Given the description of an element on the screen output the (x, y) to click on. 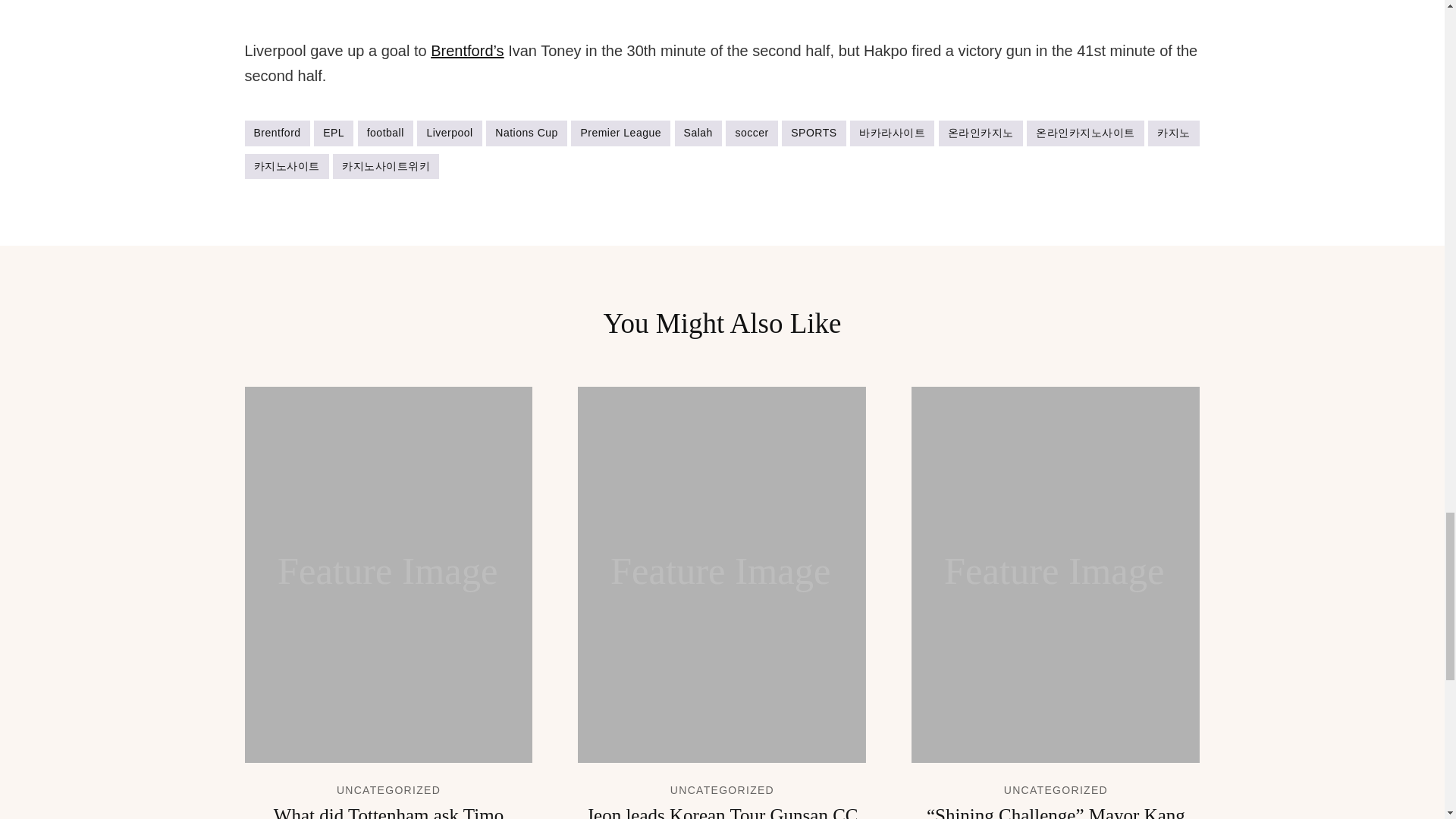
Feature Image (722, 574)
EPL (333, 133)
Liverpool (448, 133)
Feature Image (1055, 574)
What did Tottenham ask Timo Werner to do? (388, 812)
Salah (698, 133)
UNCATEGORIZED (388, 789)
Brentford (276, 133)
Feature Image (388, 574)
Premier League (619, 133)
soccer (751, 133)
SPORTS (813, 133)
football (385, 133)
Nations Cup (526, 133)
